Given the description of an element on the screen output the (x, y) to click on. 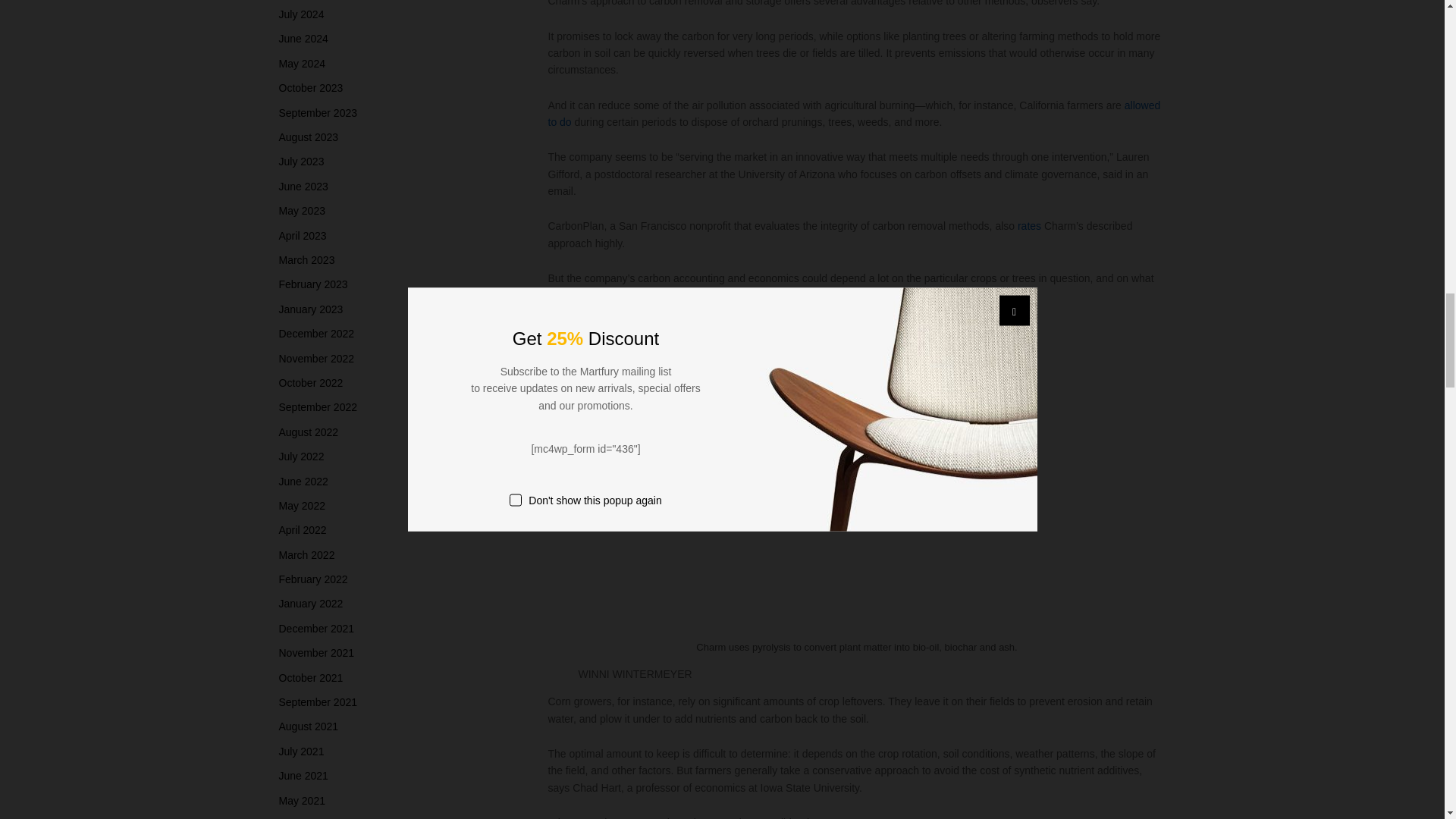
allowed to do (853, 113)
rates (1029, 225)
